Given the description of an element on the screen output the (x, y) to click on. 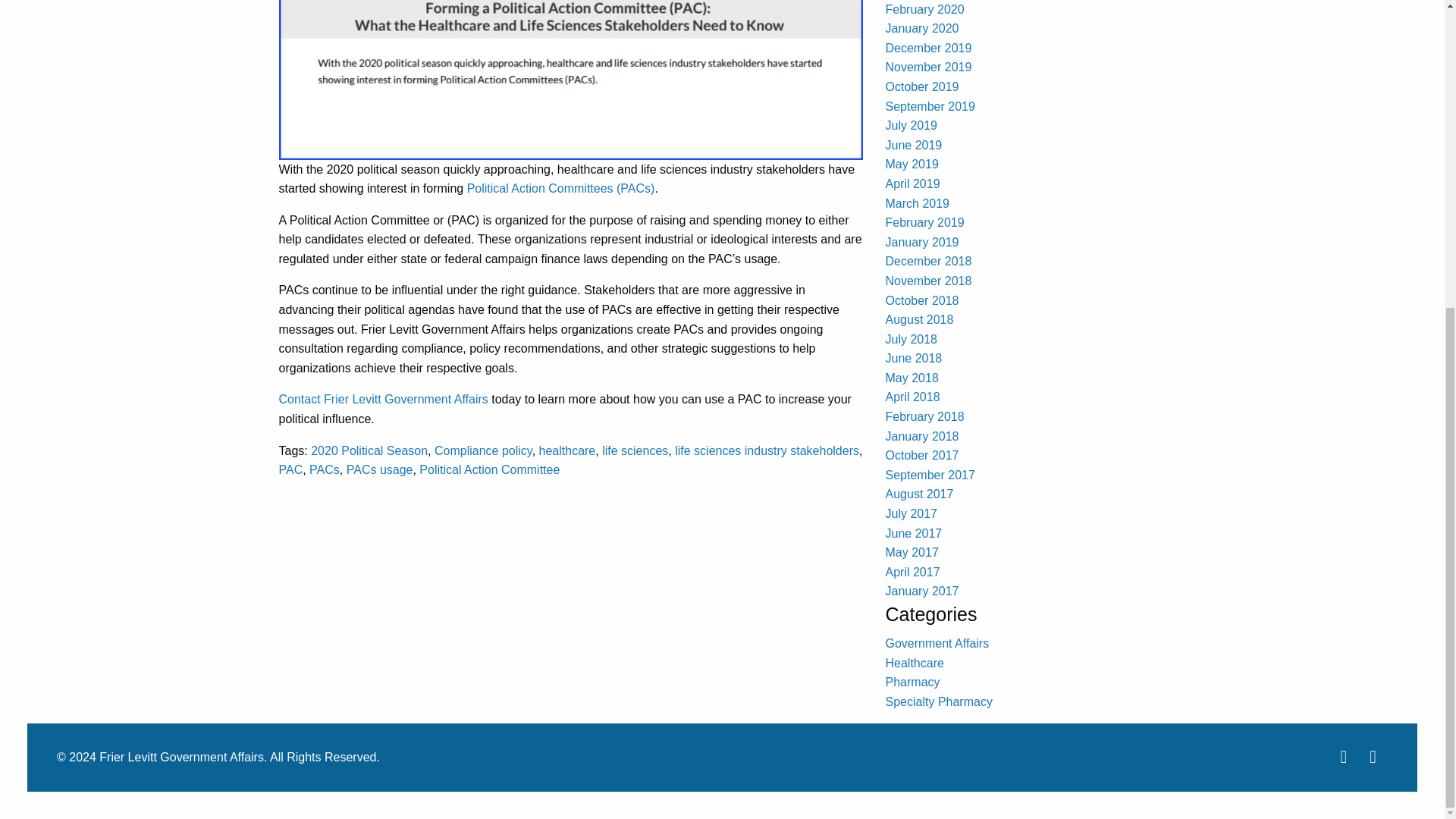
January 2020 (922, 28)
Contact Frier Levitt Government Affairs (383, 399)
healthcare (566, 450)
February 2020 (924, 9)
PACs usage (379, 469)
December 2019 (928, 47)
Political Action Committee (489, 469)
PACs (323, 469)
November 2019 (928, 66)
PAC (290, 469)
